Given the description of an element on the screen output the (x, y) to click on. 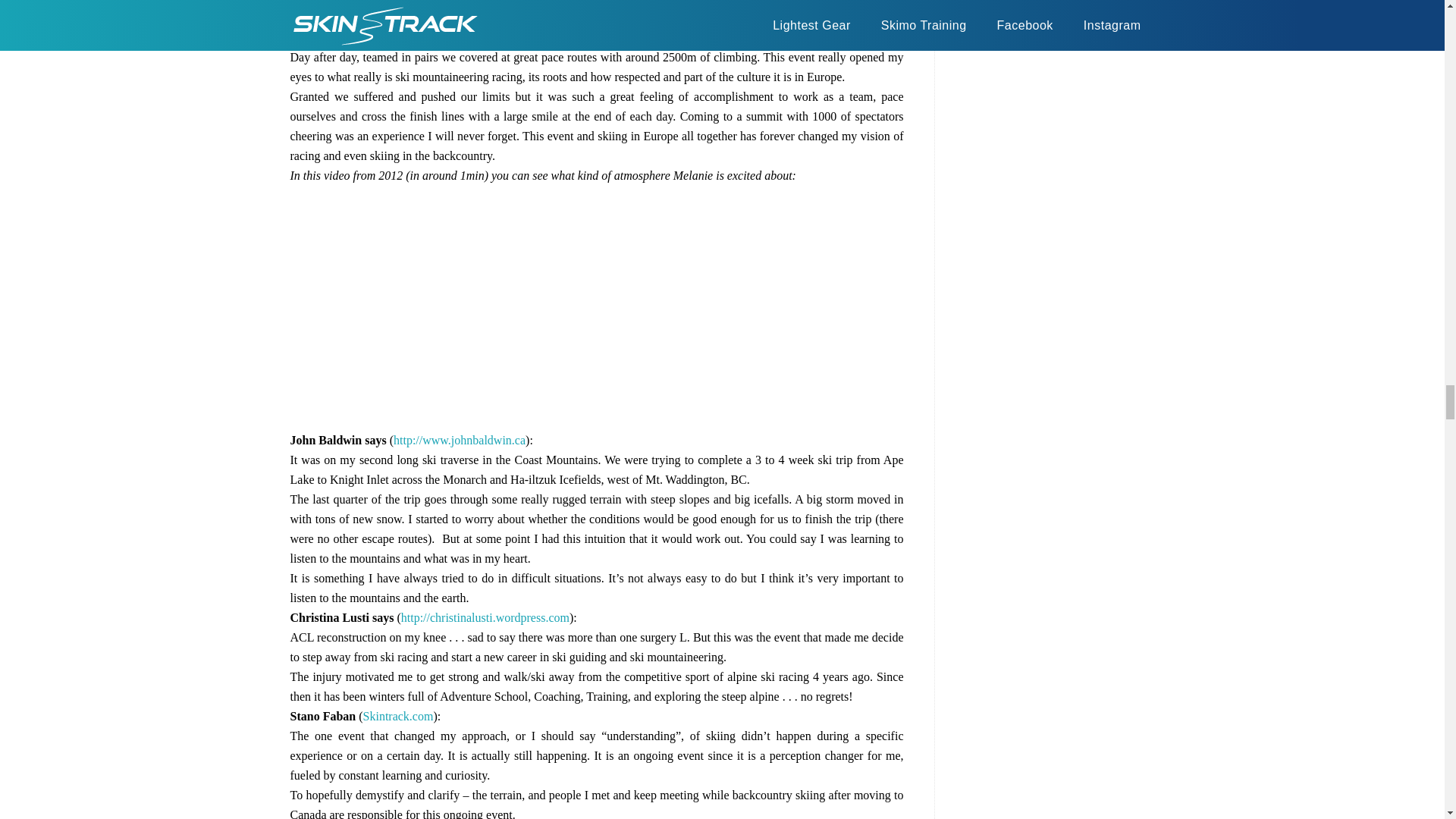
Skintrack.com (397, 716)
Pierra Menta (658, 17)
Videos from Pierra Menta (658, 17)
